Given the description of an element on the screen output the (x, y) to click on. 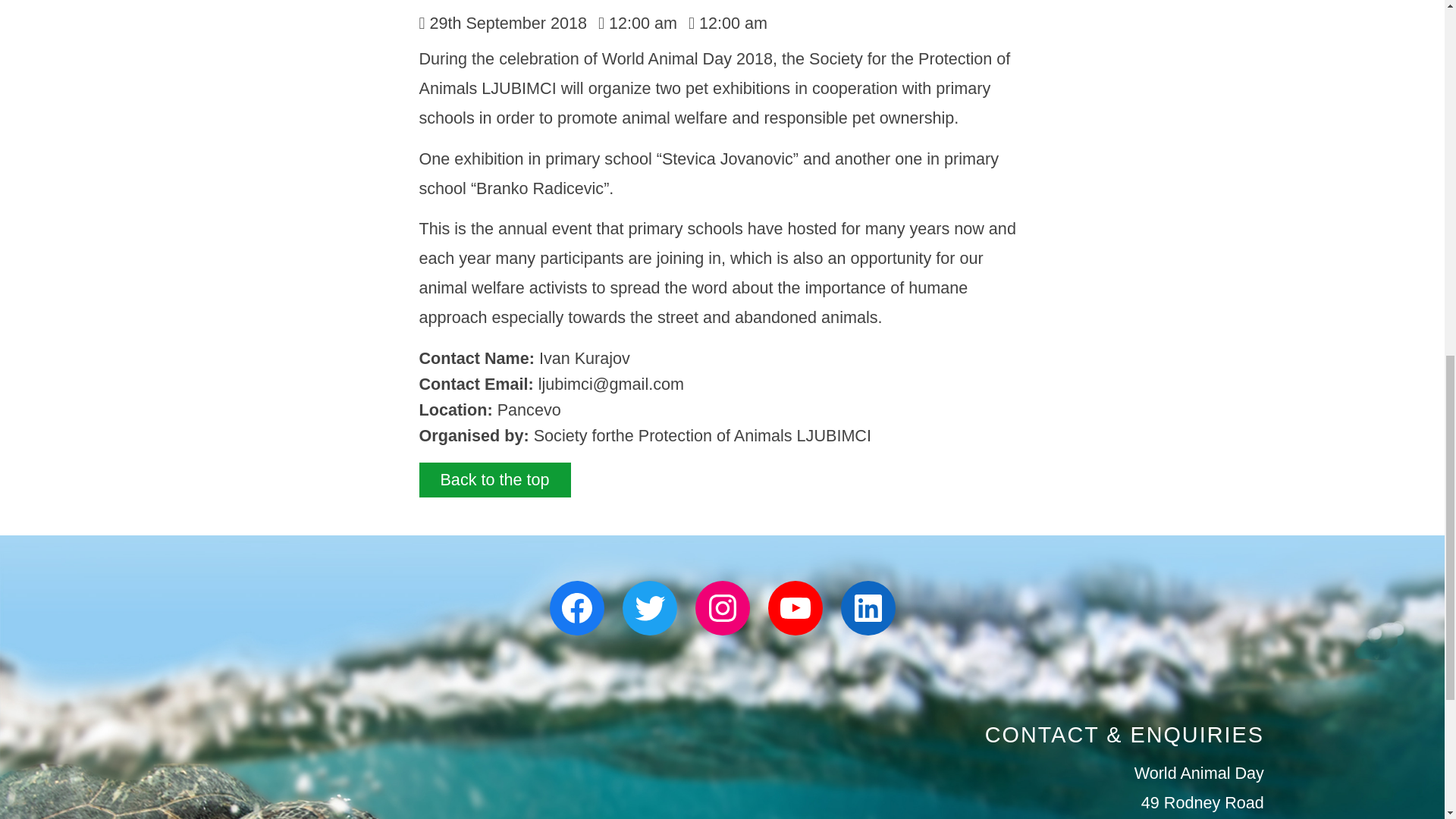
Facebook (576, 607)
YouTube (794, 607)
Twitter (649, 607)
LinkedIn (867, 607)
Back to the top (494, 479)
Instagram (721, 607)
